Given the description of an element on the screen output the (x, y) to click on. 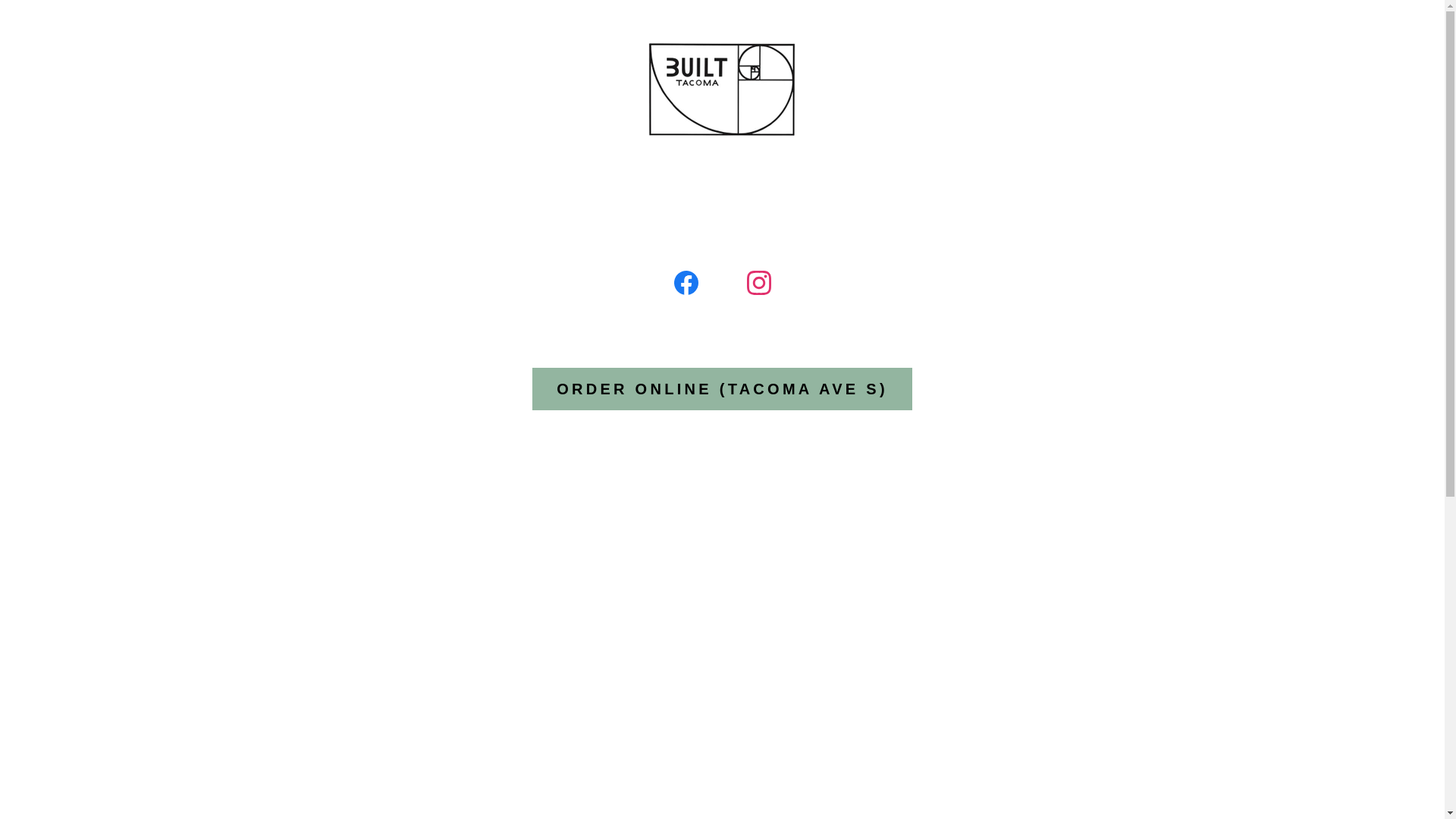
ORDER ONLINE (TACOMA AVE S) Element type: text (722, 388)
